Given the description of an element on the screen output the (x, y) to click on. 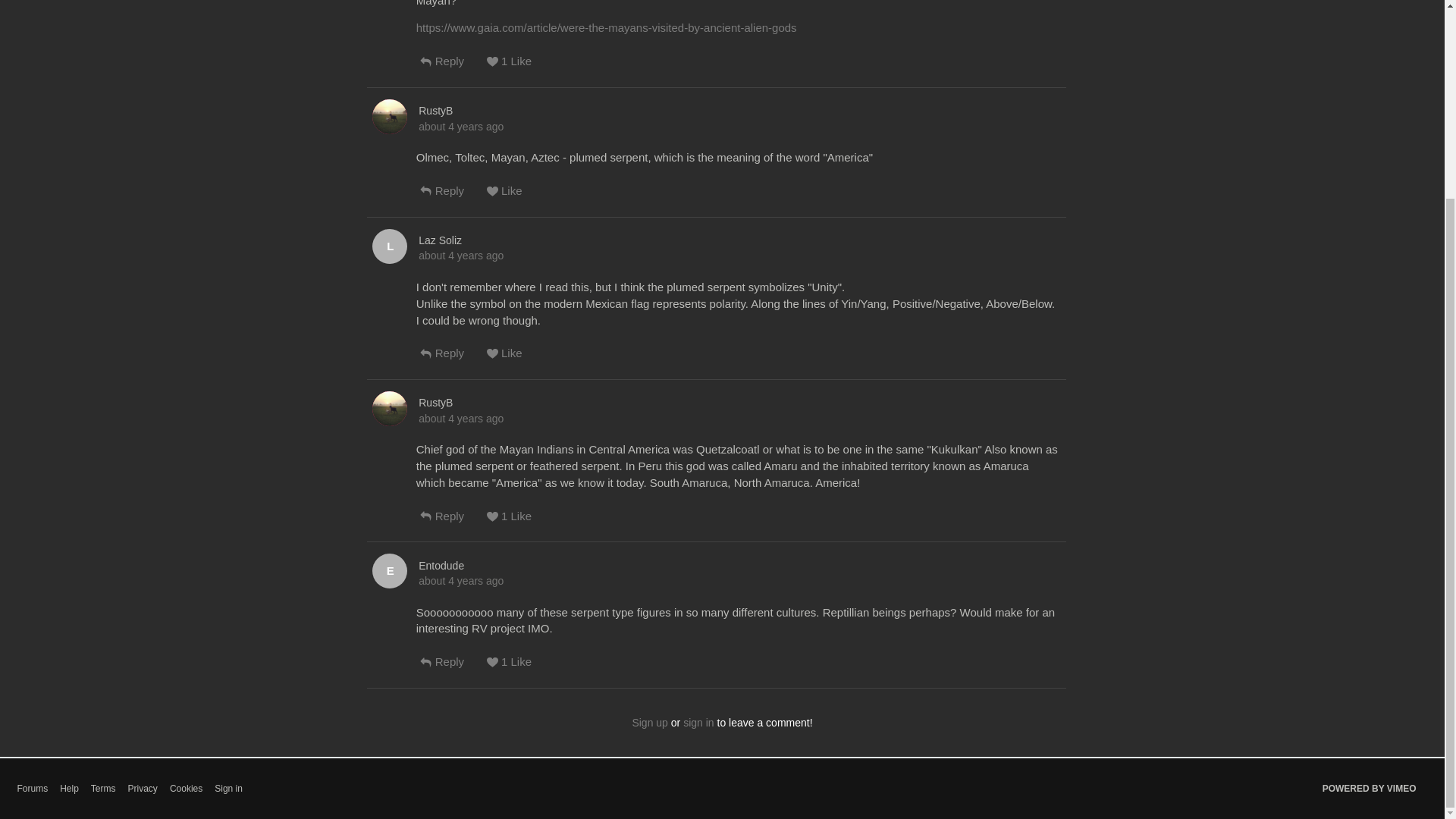
about 4 years ago (461, 418)
Reply (453, 521)
about 4 years ago (461, 580)
Reply (453, 67)
Help (68, 788)
sign in (697, 722)
POWERED BY VIMEO (1369, 788)
about 4 years ago (461, 126)
Reply (453, 196)
about 4 years ago (461, 255)
